Given the description of an element on the screen output the (x, y) to click on. 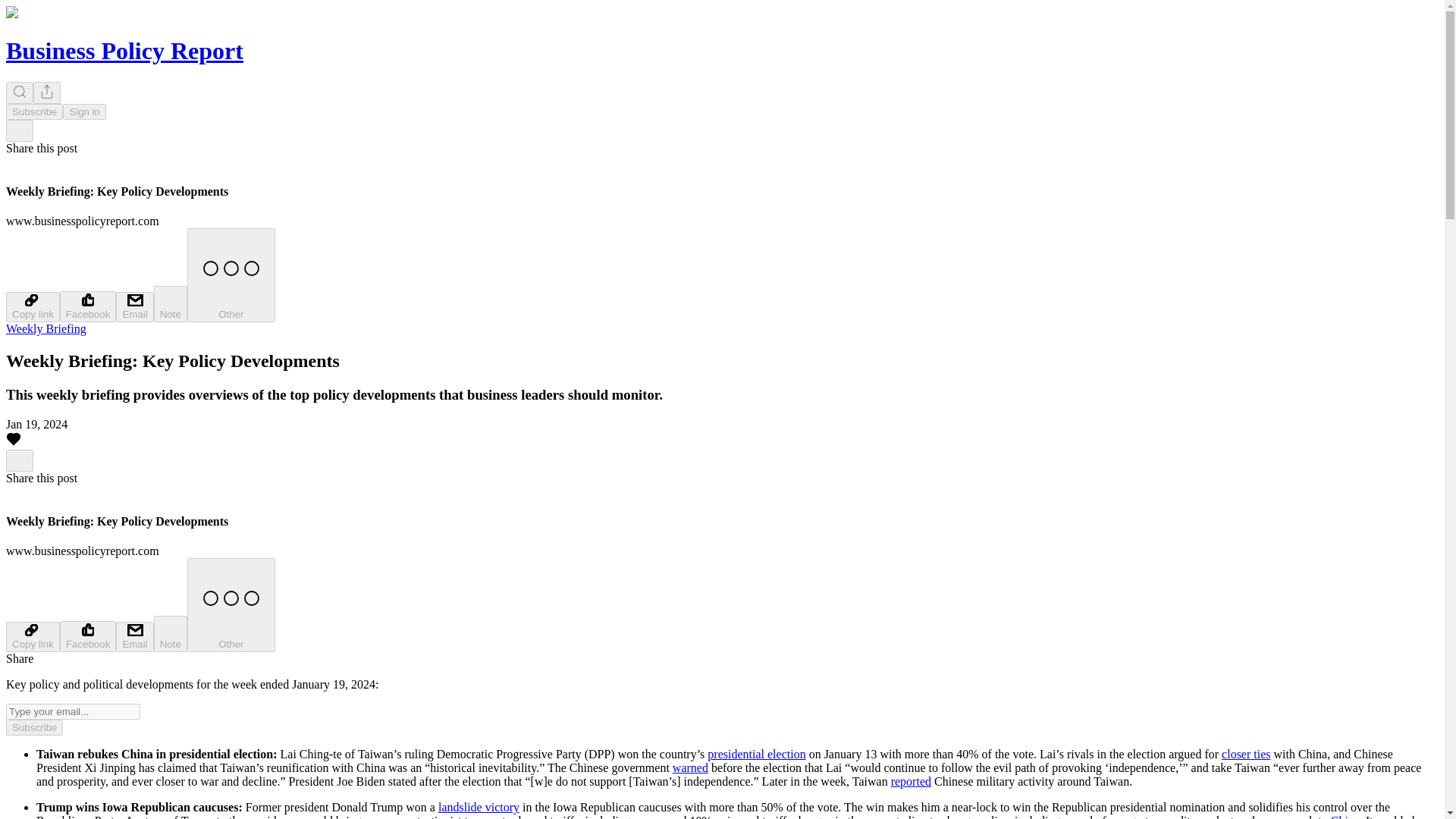
Other (231, 275)
Facebook (87, 635)
Note (170, 303)
Business Policy Report (124, 50)
Email (134, 636)
Subscribe (33, 111)
Other (231, 604)
Copy link (32, 636)
Weekly Briefing (45, 328)
Email (134, 306)
